Given the description of an element on the screen output the (x, y) to click on. 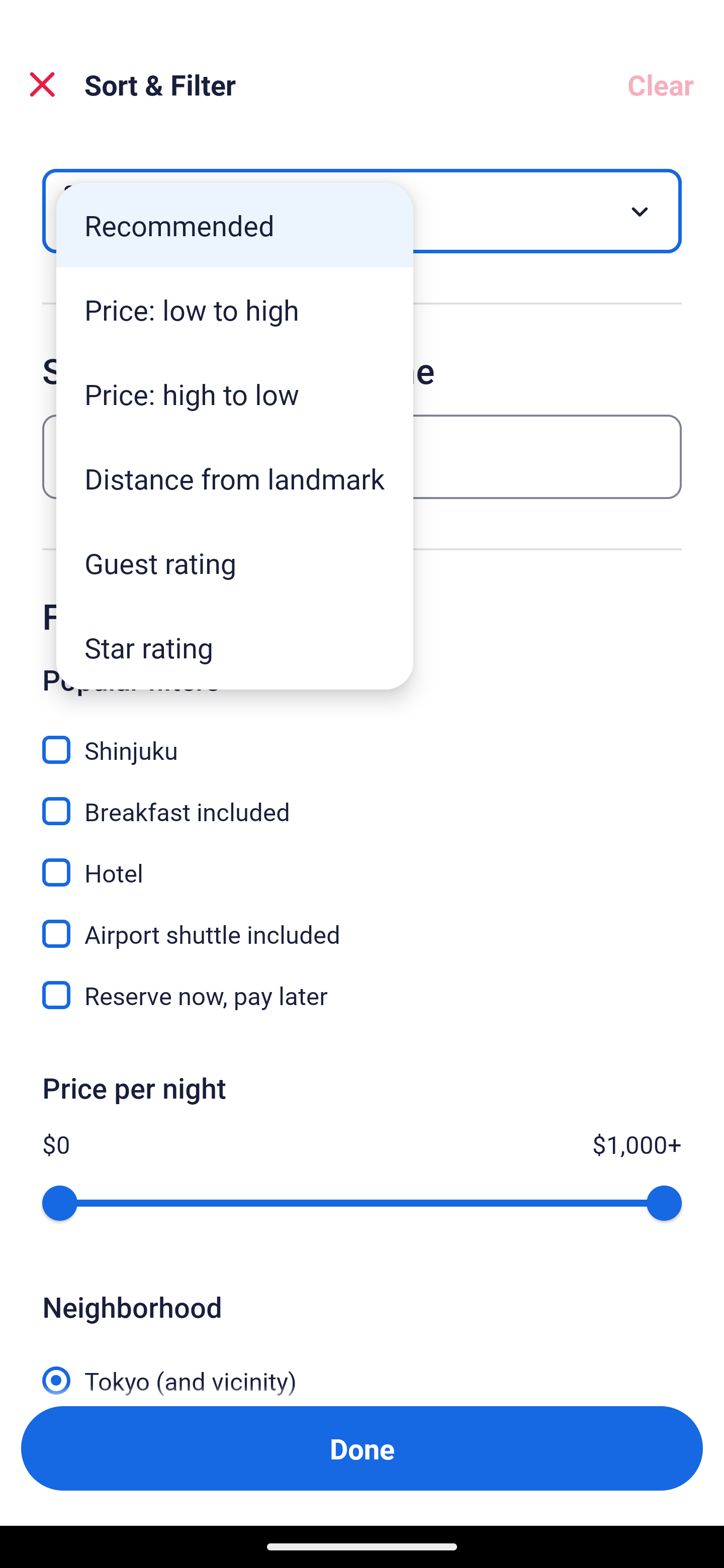
Price: low to high (234, 309)
Price: high to low (234, 393)
Distance from landmark (234, 477)
Guest rating (234, 562)
Star rating (234, 647)
